Given the description of an element on the screen output the (x, y) to click on. 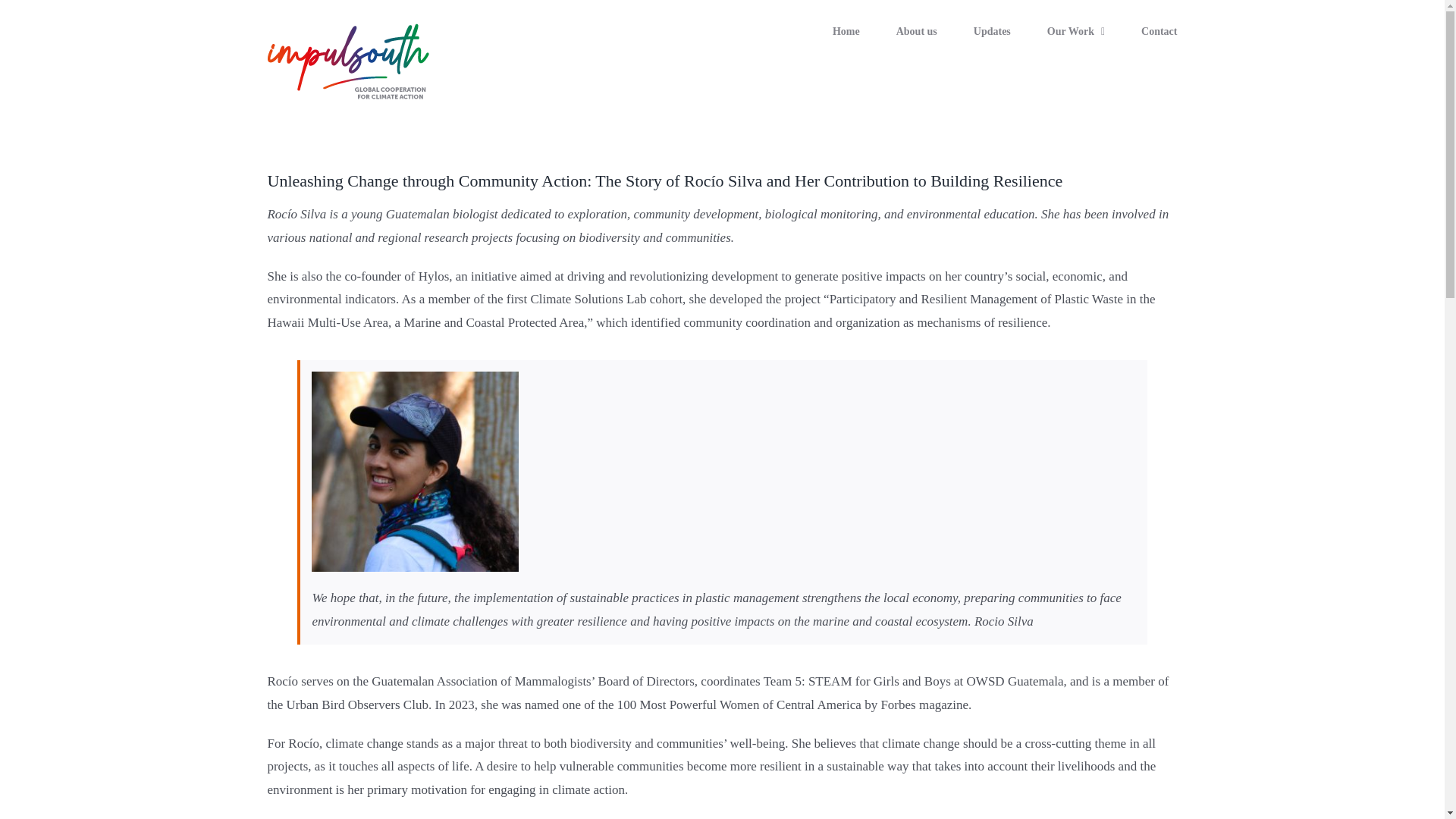
Our Work (1075, 31)
